Given the description of an element on the screen output the (x, y) to click on. 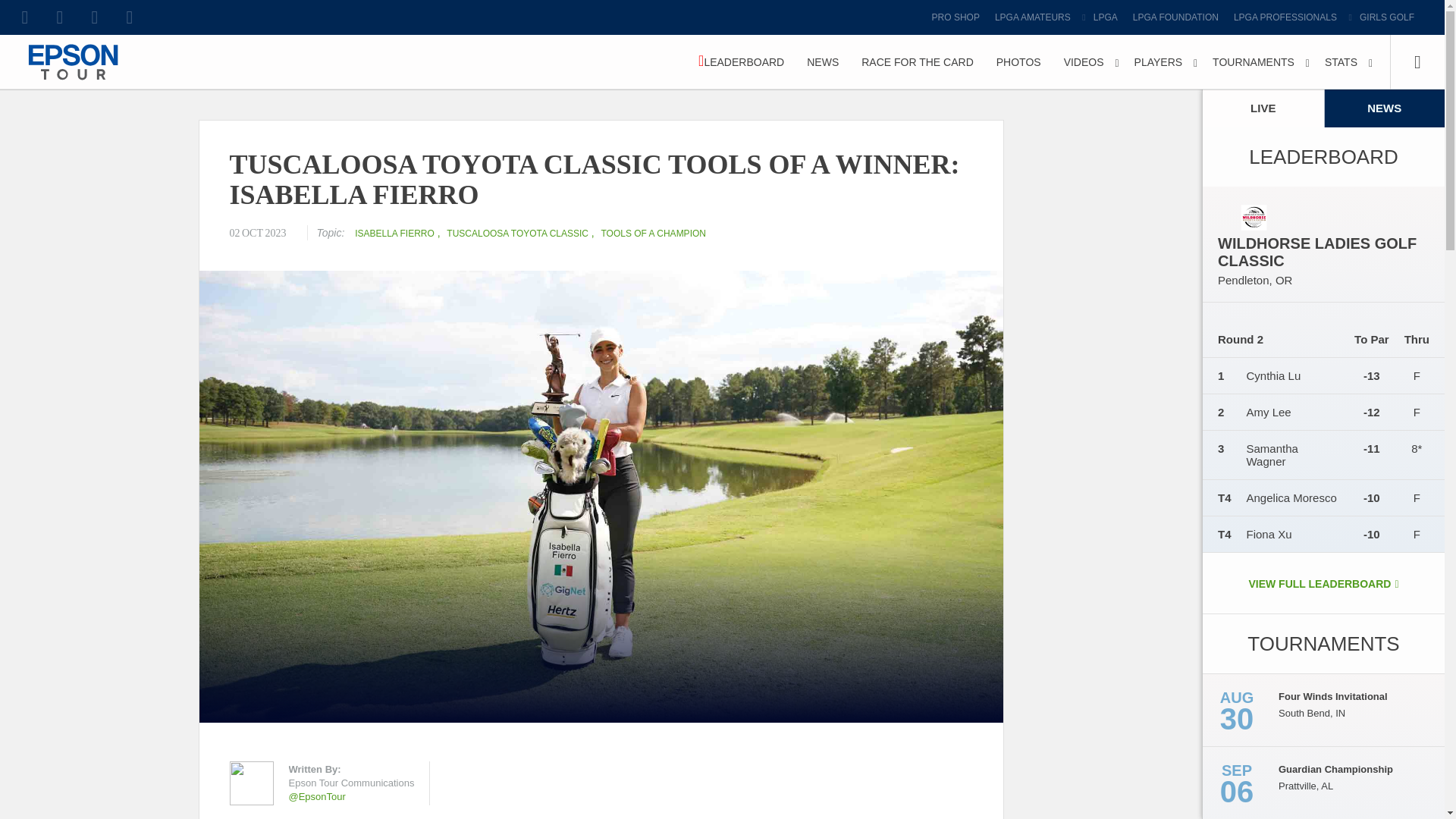
LEADERBOARD (740, 62)
LPGA PROFESSIONALS (1288, 17)
STATS (1344, 62)
PHOTOS (1018, 62)
TOURNAMENTS (1257, 62)
RACE FOR THE CARD (917, 62)
VIDEOS (1087, 62)
LPGA (1105, 17)
GIRLS GOLF (1387, 17)
PRO SHOP (955, 17)
